Given the description of an element on the screen output the (x, y) to click on. 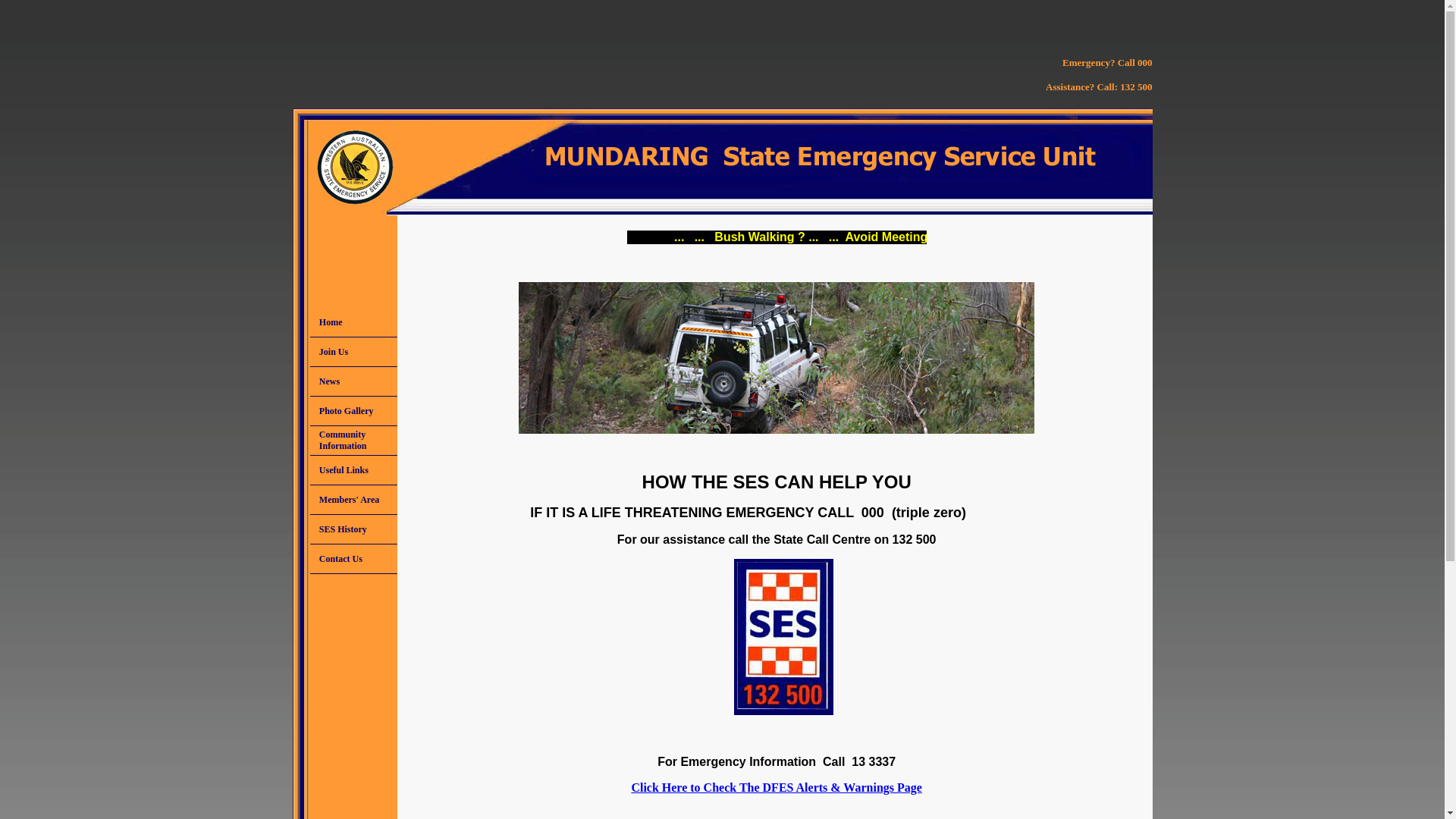
Contact Us Element type: text (353, 558)
Photo Gallery Element type: text (353, 410)
Useful Links Element type: text (353, 469)
Join Us Element type: text (353, 351)
Members' Area Element type: text (353, 499)
Click Here to Check The DFES Alerts & Warnings Page Element type: text (776, 787)
News Element type: text (353, 381)
Community
Information Element type: text (353, 440)
Home Element type: text (353, 321)
SES History Element type: text (353, 528)
